Given the description of an element on the screen output the (x, y) to click on. 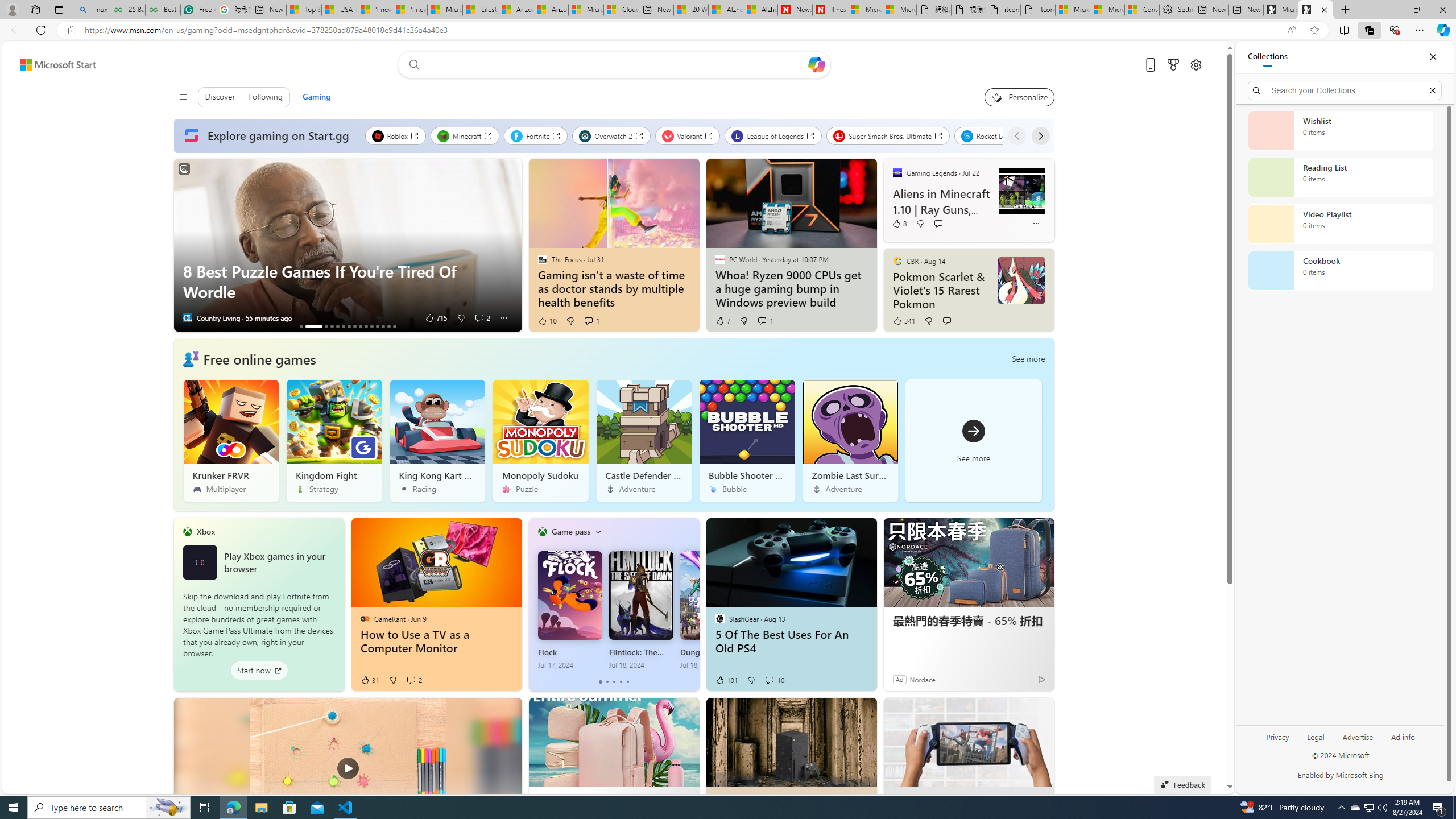
Consumer Health Data Privacy Policy (1141, 9)
8 Like (898, 223)
KingdomScape - Gameplay (366, 326)
PC World (719, 258)
Search your Collections (1345, 90)
View comments 2 Comment (411, 679)
Reading List collection, 0 items (1339, 177)
itconcepthk.com/projector_solutions.mp4 (1037, 9)
31 Like (369, 680)
Cloud Computing Services | Microsoft Azure (620, 9)
